Given the description of an element on the screen output the (x, y) to click on. 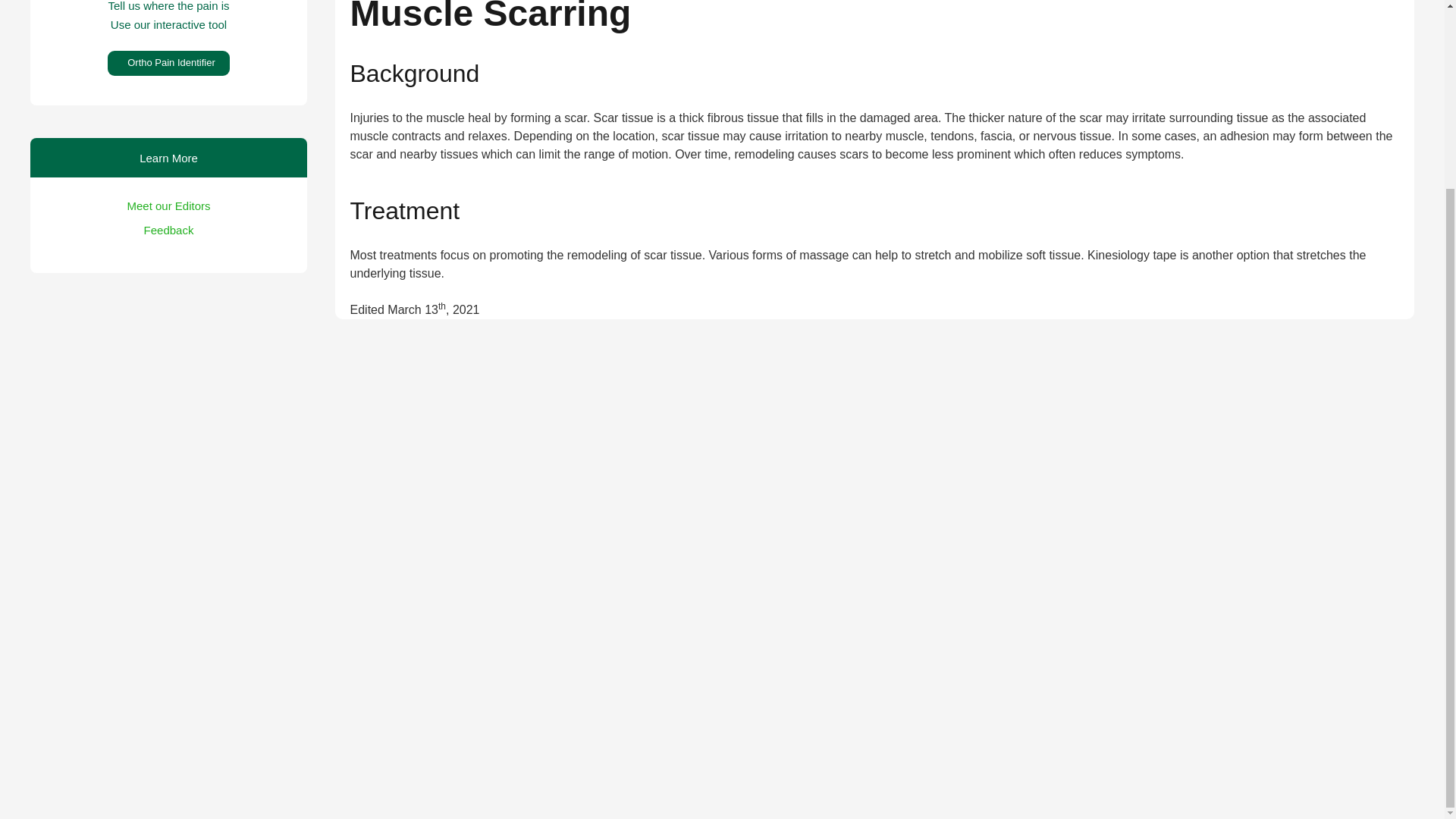
Advertisement (168, 663)
Advertisement (169, 415)
Feedback (168, 229)
Ortho Pain Identifier (168, 63)
Meet our Editors (167, 205)
